Given the description of an element on the screen output the (x, y) to click on. 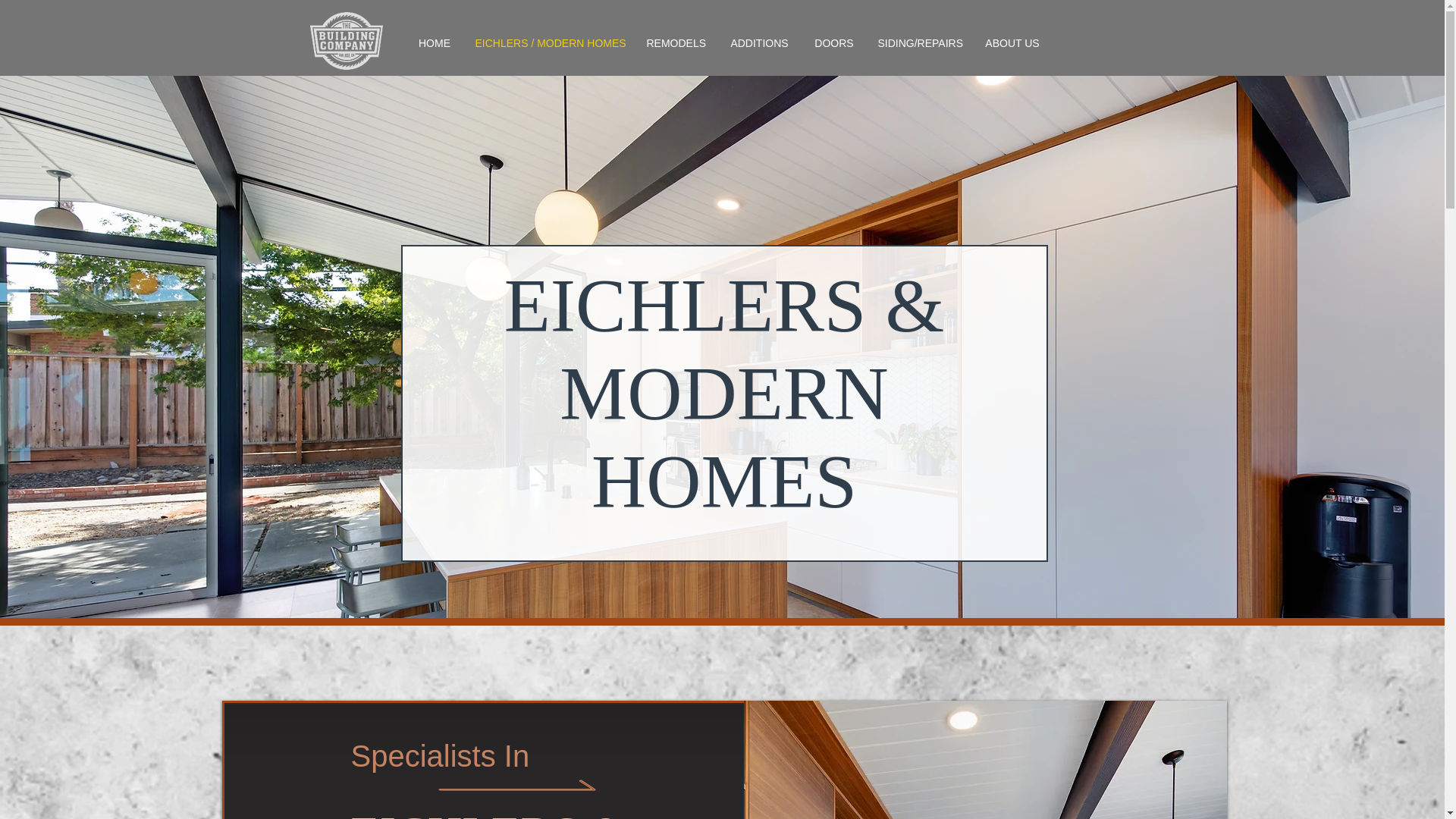
REMODELS (675, 43)
DOORS (834, 43)
HOME (433, 43)
ABOUT US (1011, 43)
ADDITIONS (759, 43)
